Given the description of an element on the screen output the (x, y) to click on. 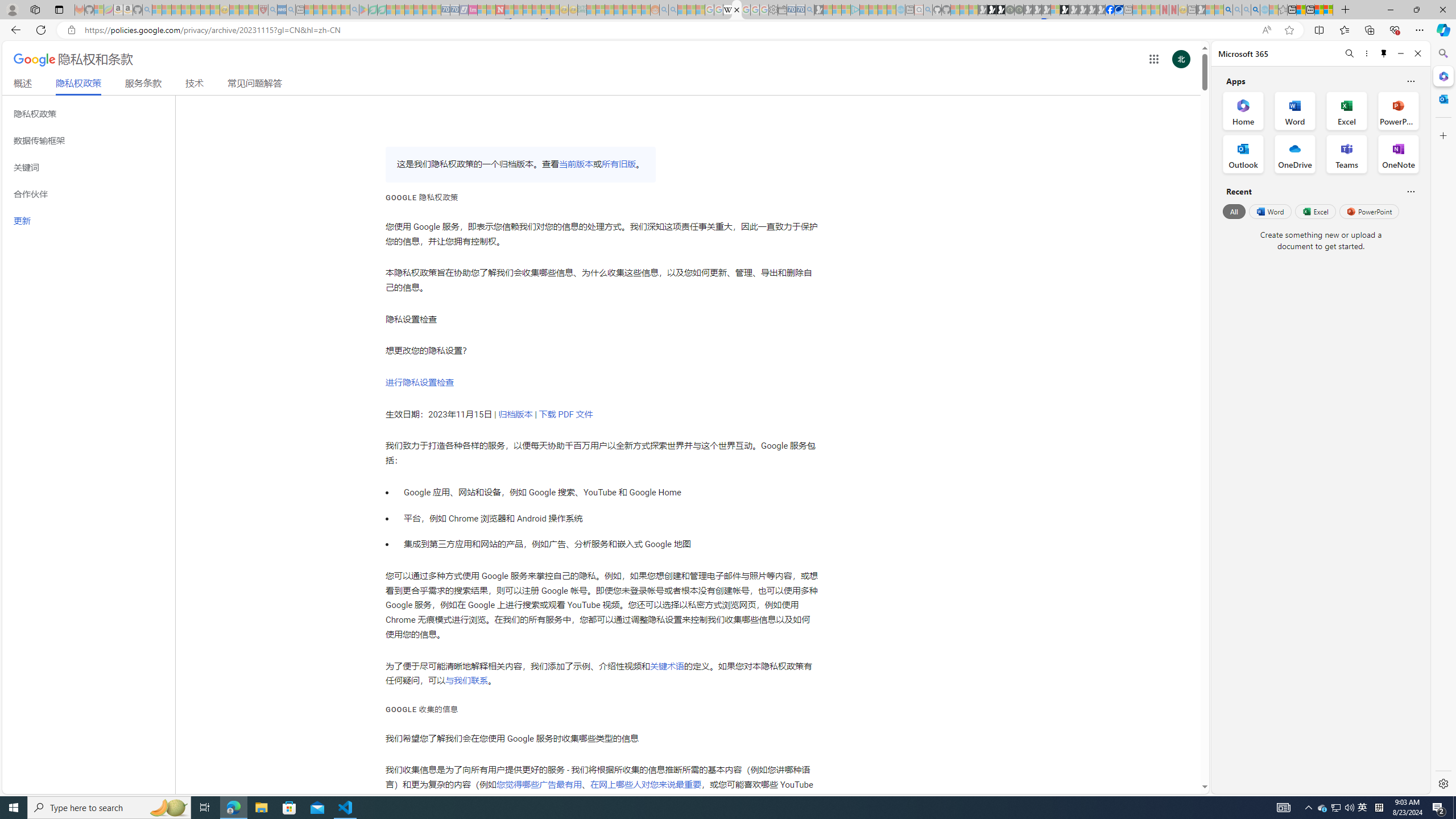
Excel (1315, 210)
OneNote Office App (1398, 154)
Word (1269, 210)
